Given the description of an element on the screen output the (x, y) to click on. 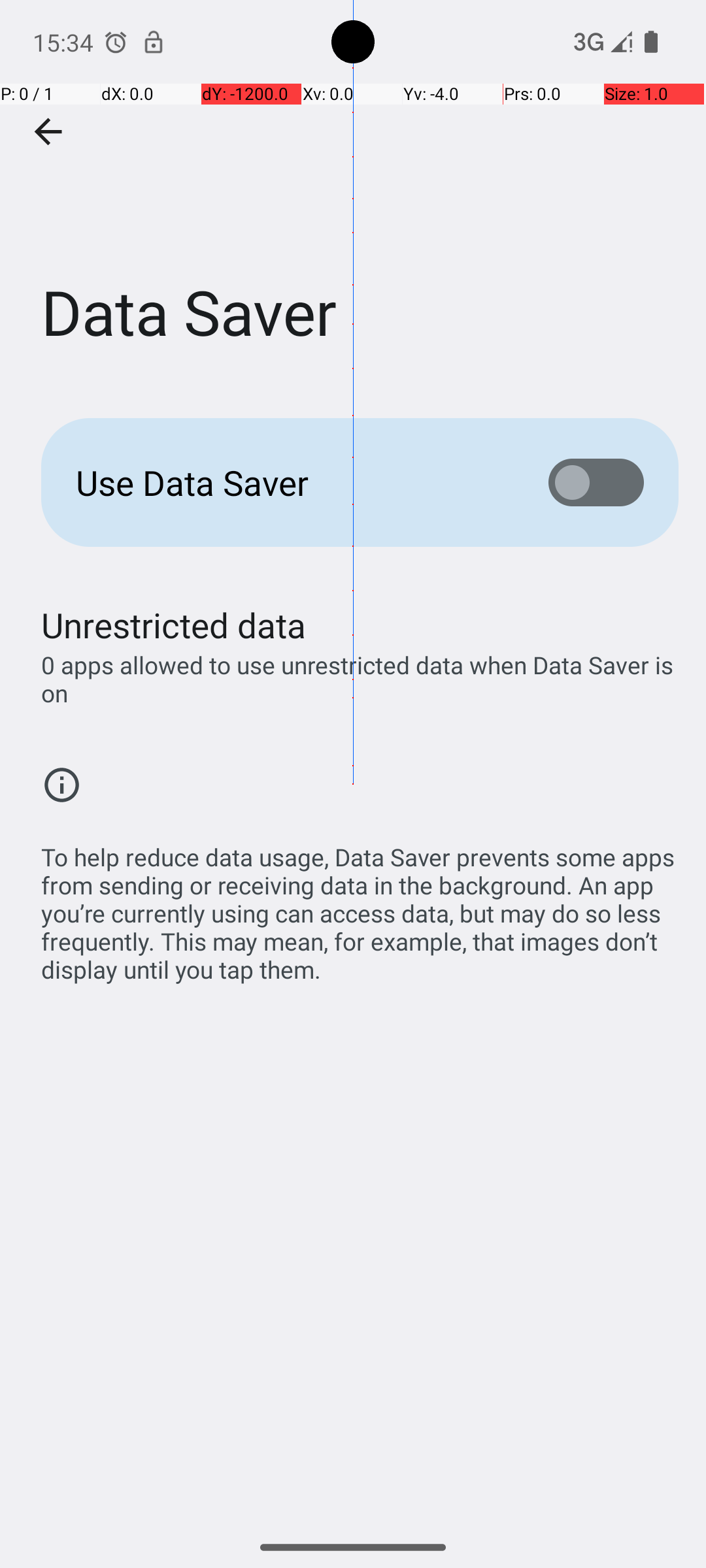
Use Data Saver Element type: android.widget.TextView (291, 482)
0 apps allowed to use unrestricted data when Data Saver is on Element type: android.widget.TextView (359, 678)
To help reduce data usage, Data Saver prevents some apps from sending or receiving data in the background. An app you’re currently using can access data, but may do so less frequently. This may mean, for example, that images don’t display until you tap them. Element type: android.widget.TextView (359, 905)
